Given the description of an element on the screen output the (x, y) to click on. 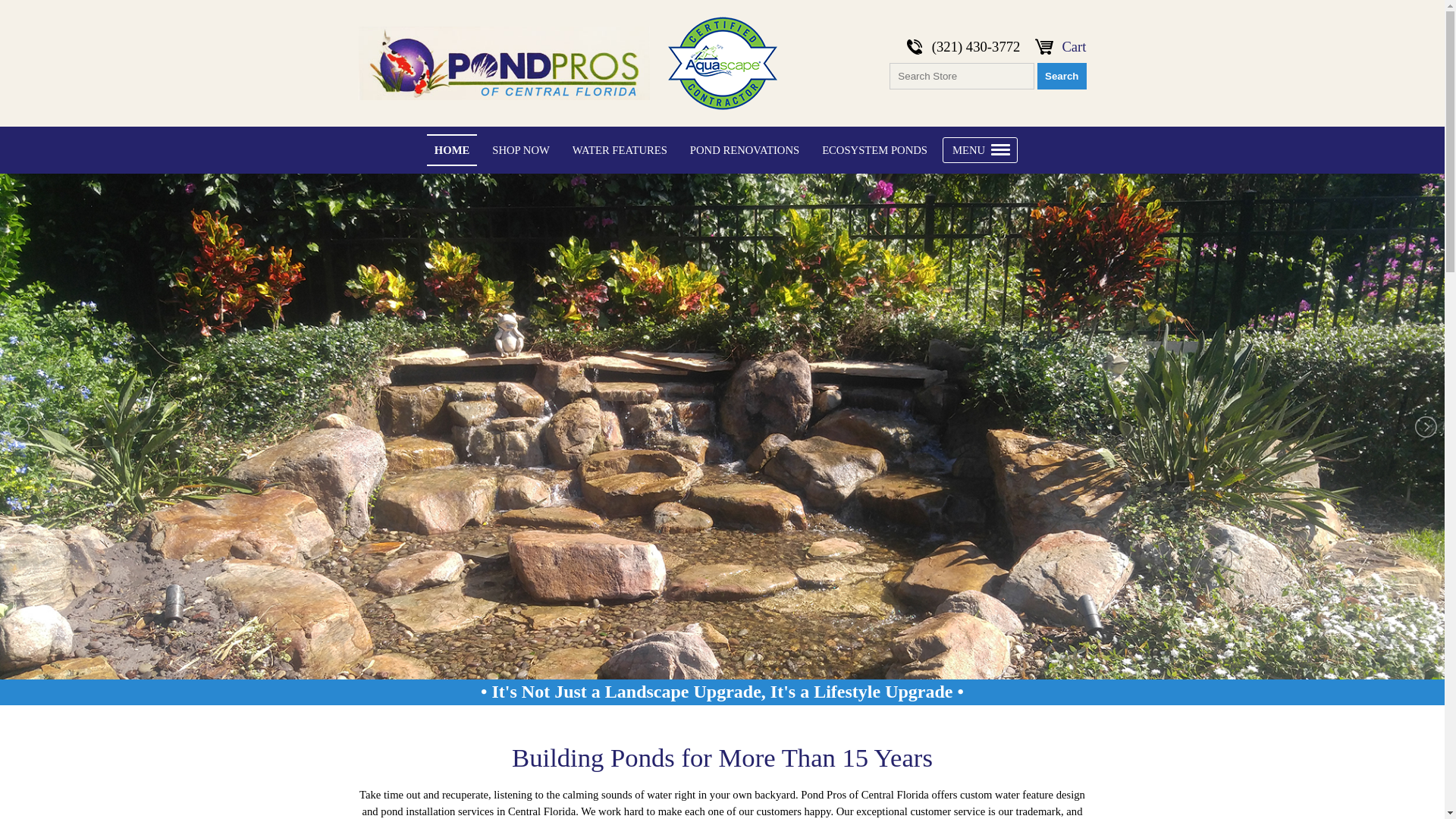
Pond Pros Koi Pond Specialist, Logo (503, 63)
Search (1061, 76)
WATER FEATURES (619, 149)
ECOSYSTEM PONDS (873, 149)
Search (1061, 76)
HOME (451, 149)
Certified Aquascape Contractor (721, 63)
POND RENOVATIONS (744, 149)
SHOP NOW (520, 149)
Cart (1073, 46)
